Given the description of an element on the screen output the (x, y) to click on. 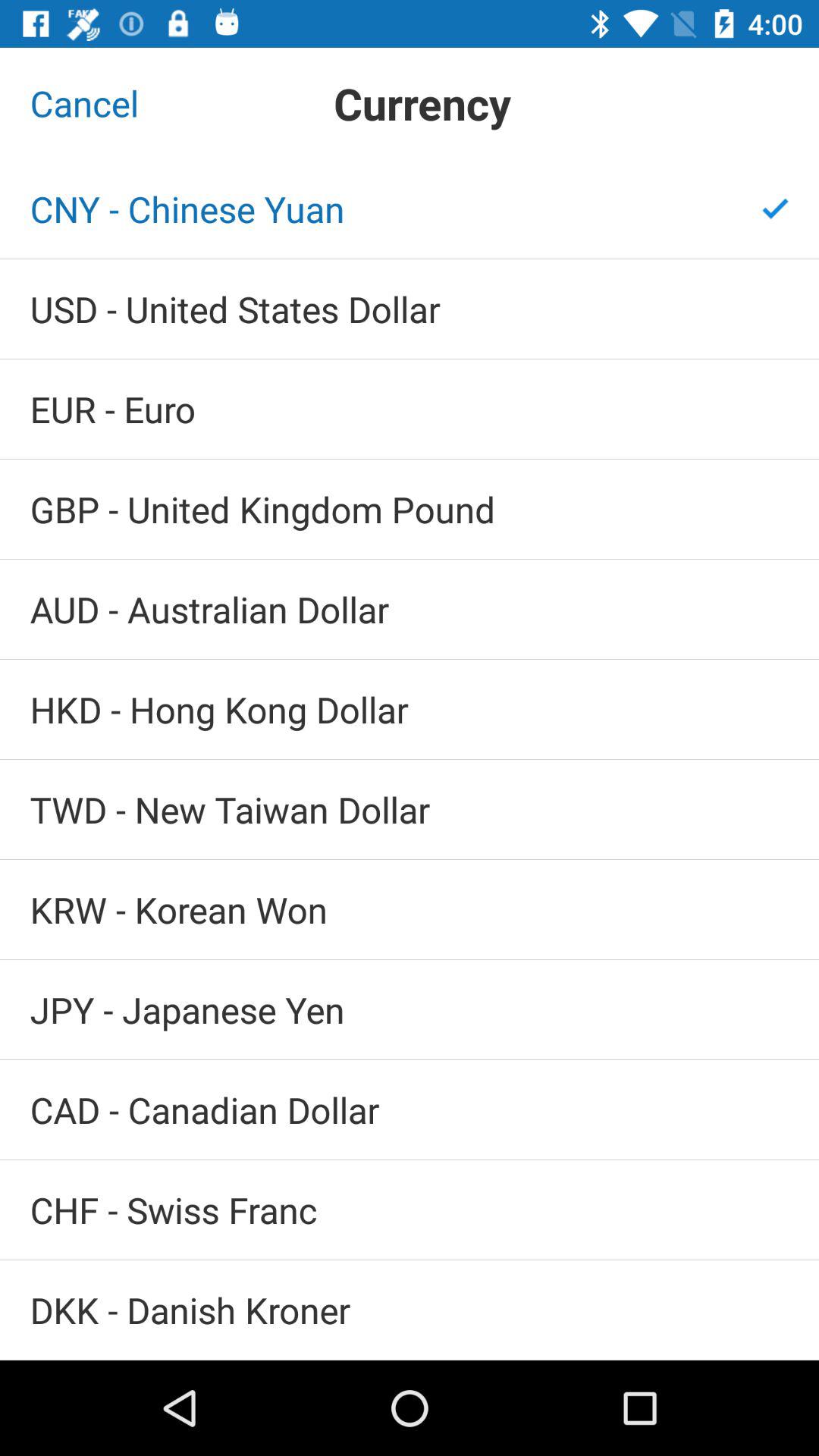
jump until dkk - danish kroner item (409, 1309)
